Given the description of an element on the screen output the (x, y) to click on. 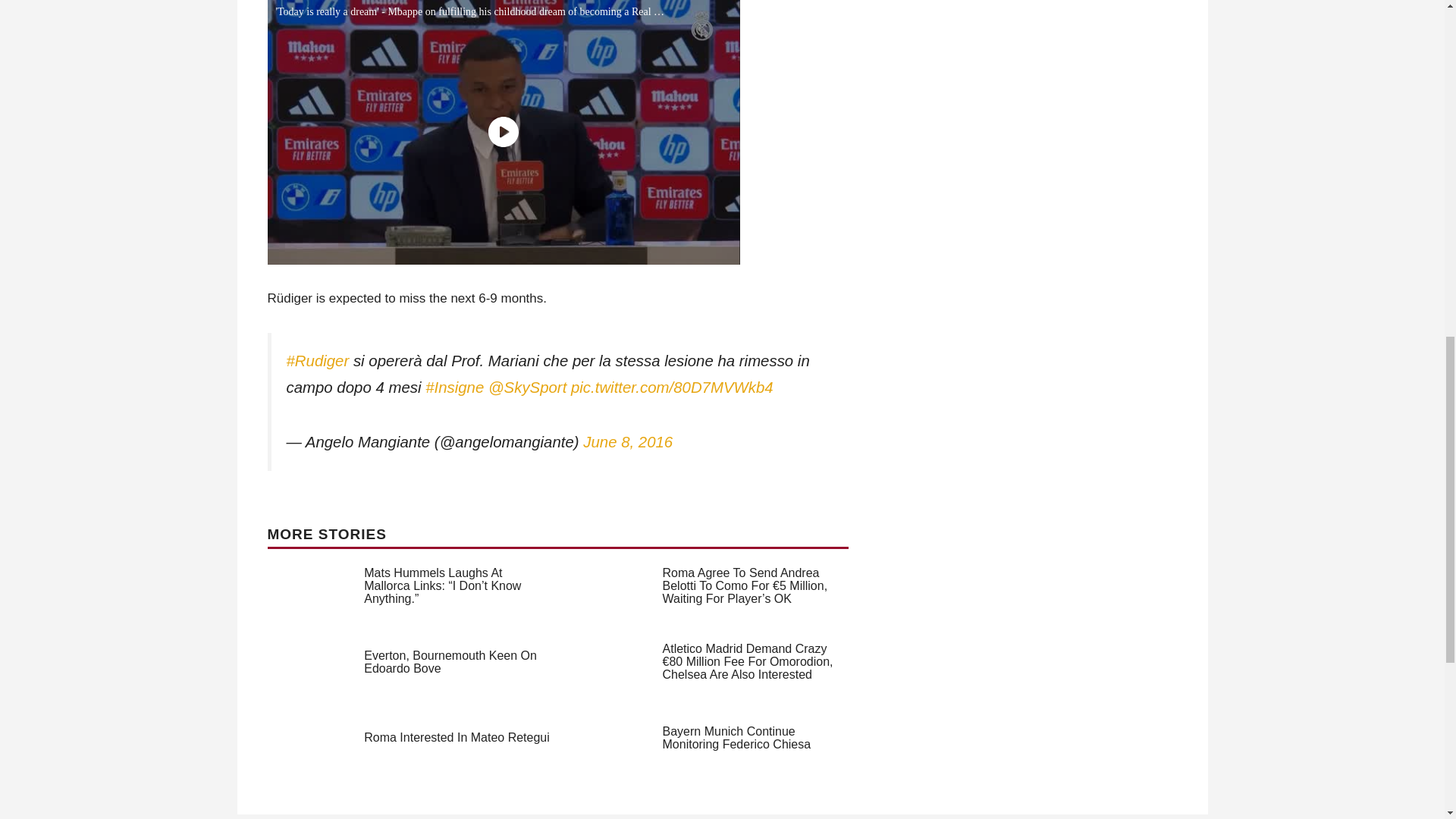
Bayern Munich Continue Monitoring Federico Chiesa (736, 737)
Roma Interested In Mateo Retegui (457, 737)
Everton, Bournemouth Keen On Edoardo Bove (450, 661)
June 8, 2016 (627, 442)
X (1434, 760)
